Given the description of an element on the screen output the (x, y) to click on. 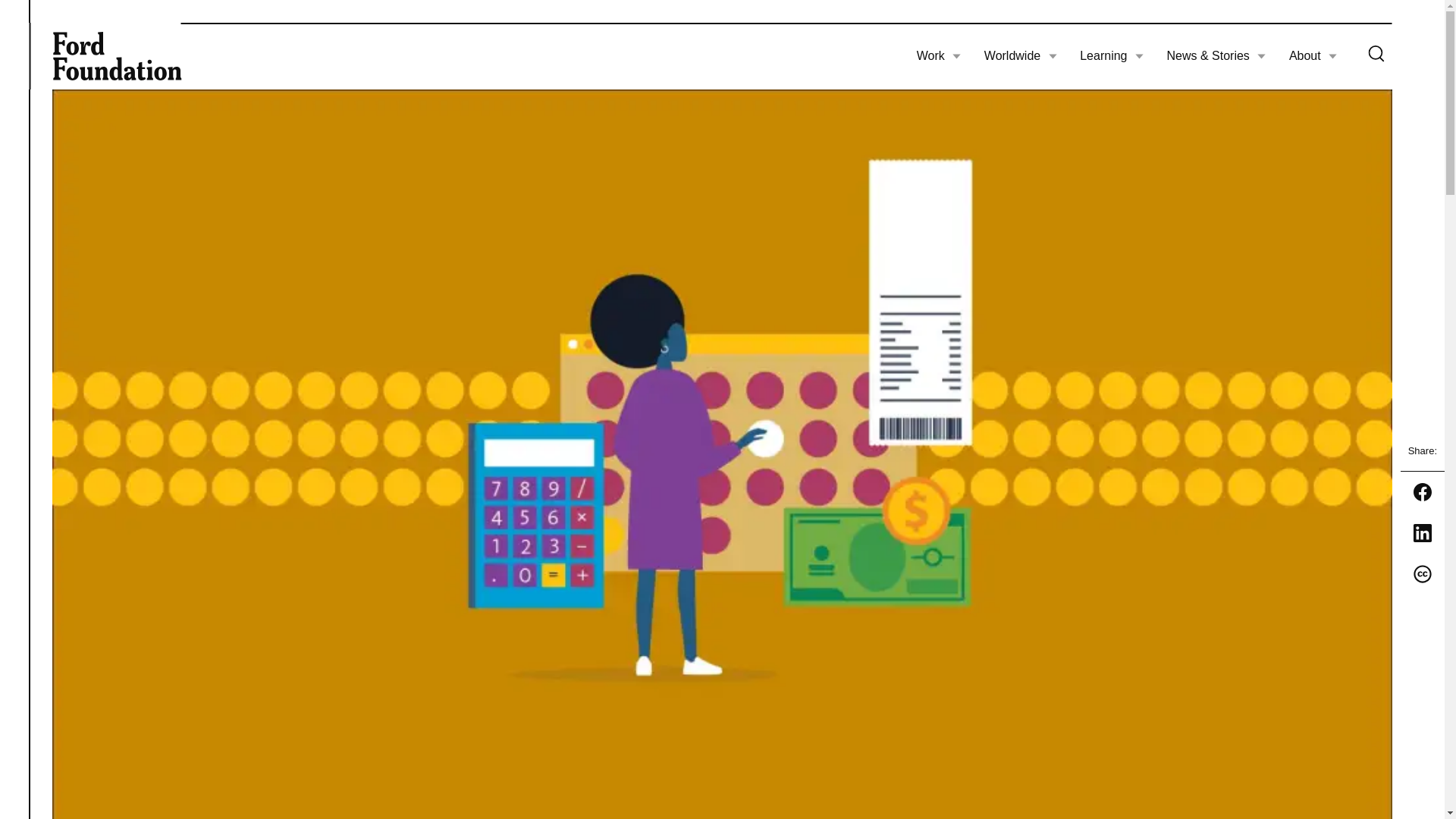
Learning (1111, 55)
Work (938, 55)
Worldwide (1020, 55)
